Given the description of an element on the screen output the (x, y) to click on. 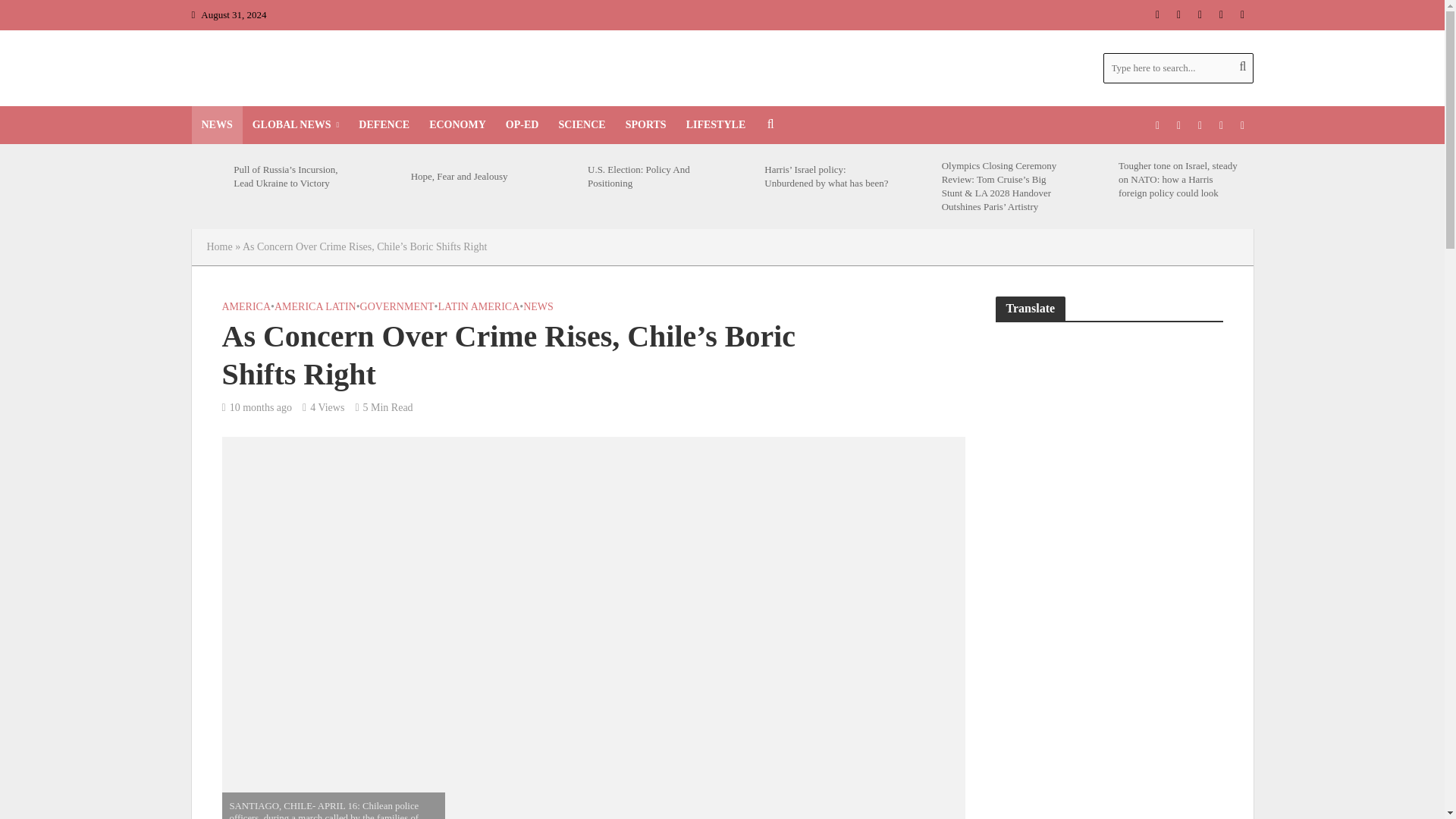
NEWS (215, 125)
GLOBAL NEWS (296, 125)
U.S. Election: Policy And Positioning (561, 176)
Hope, Fear and Jealousy (385, 176)
